Given the description of an element on the screen output the (x, y) to click on. 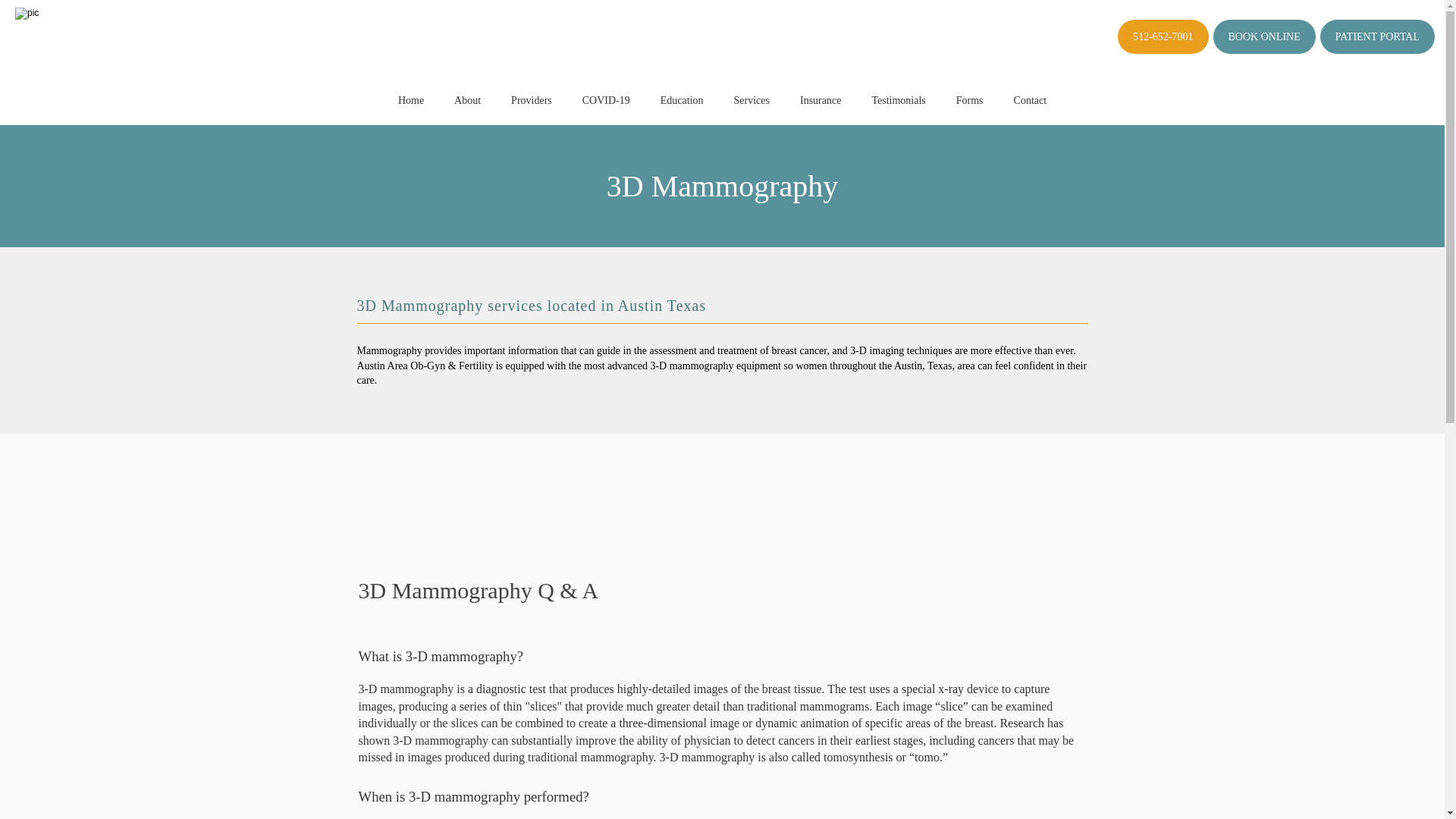
Home (410, 100)
Providers (531, 100)
COVID-19 (606, 100)
About (467, 100)
